Given the description of an element on the screen output the (x, y) to click on. 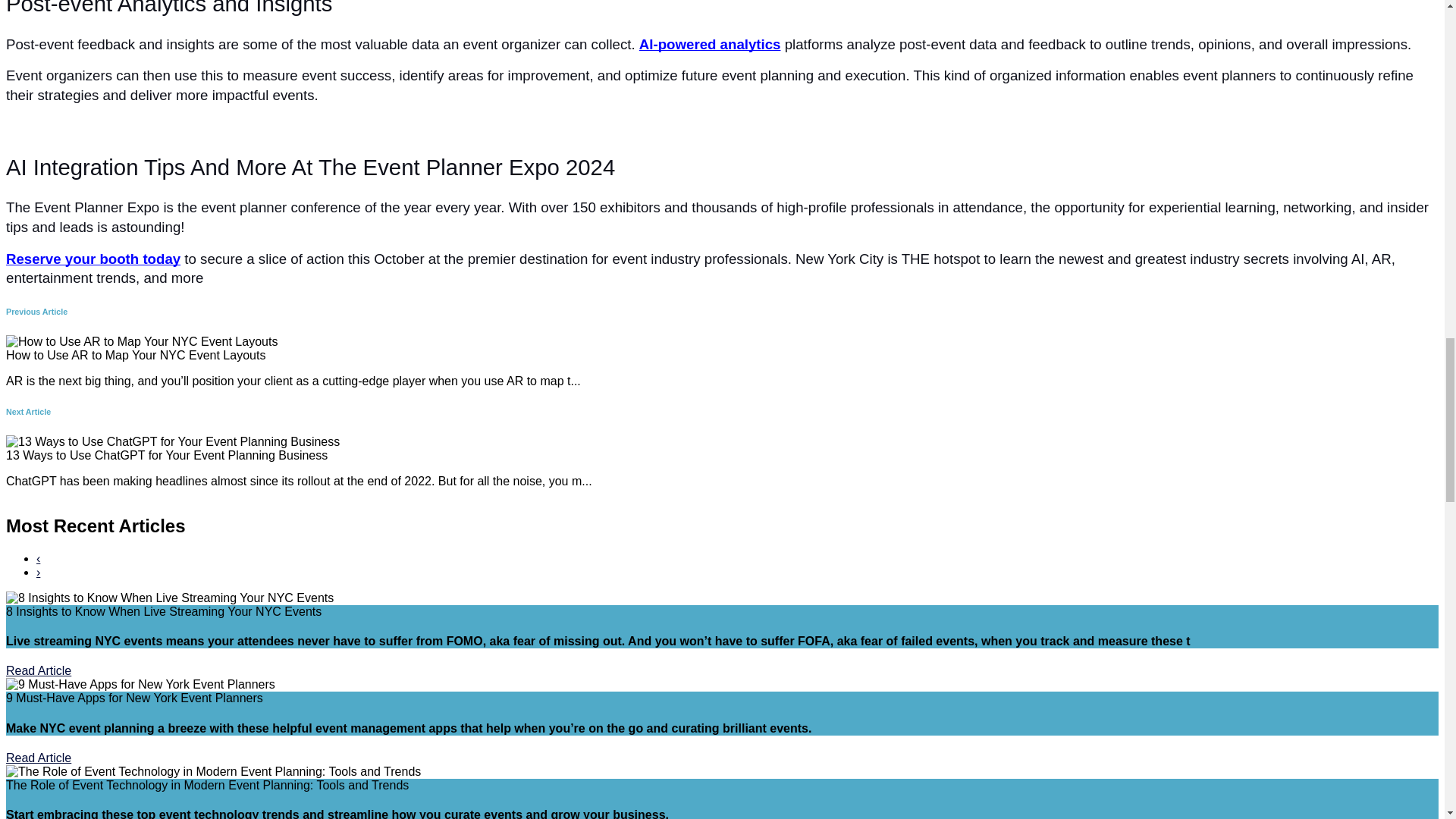
AI-powered analytics (709, 44)
Reserve your booth today (92, 259)
Read Article (38, 757)
Read Article (38, 670)
